Given the description of an element on the screen output the (x, y) to click on. 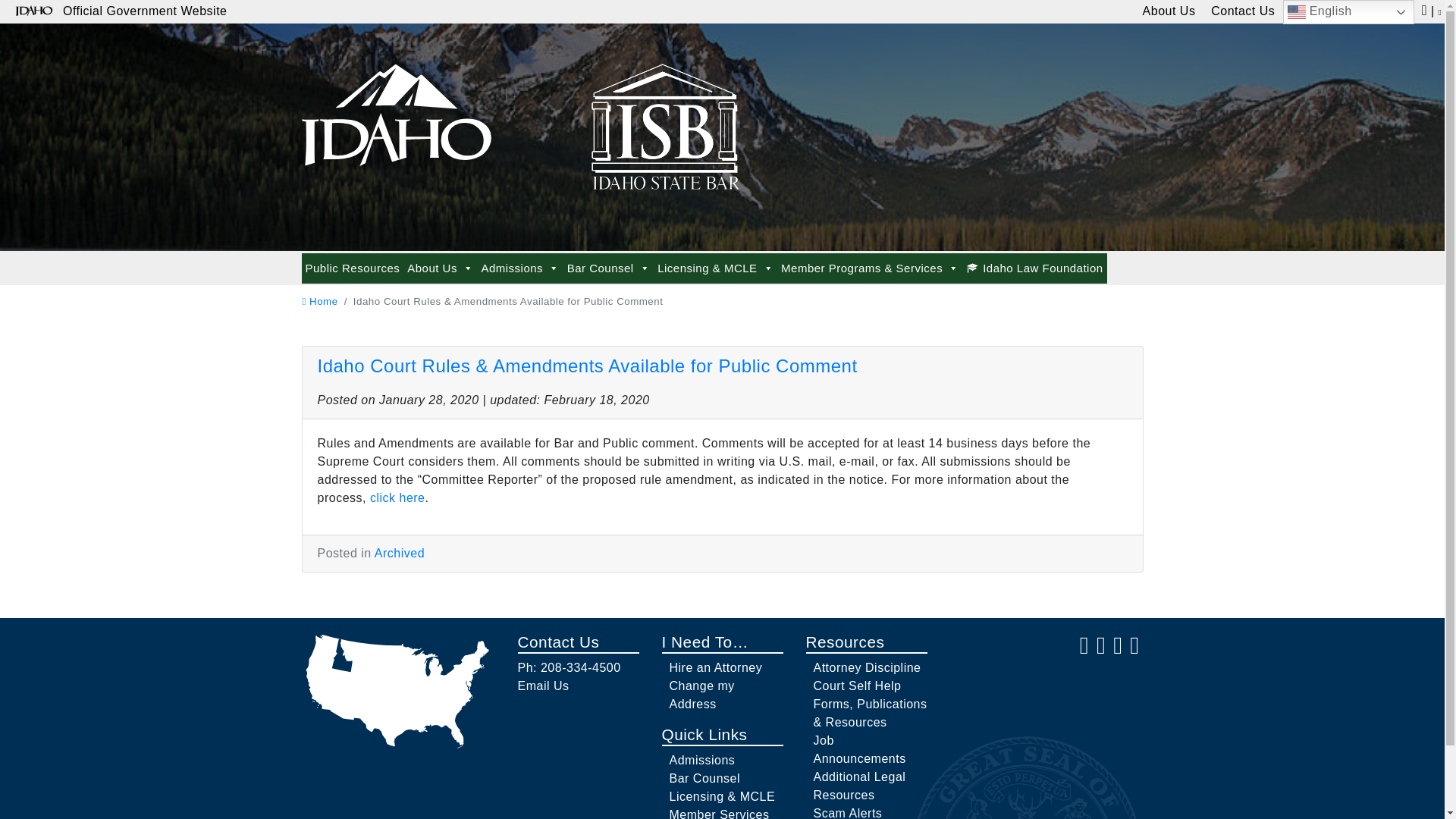
Admissions (519, 268)
English (1347, 12)
About Us (440, 268)
home (319, 301)
Contact Us (1243, 12)
State Bar (396, 107)
Bar Counsel (608, 268)
About Us (1169, 12)
Public Resources (352, 268)
